Given the description of an element on the screen output the (x, y) to click on. 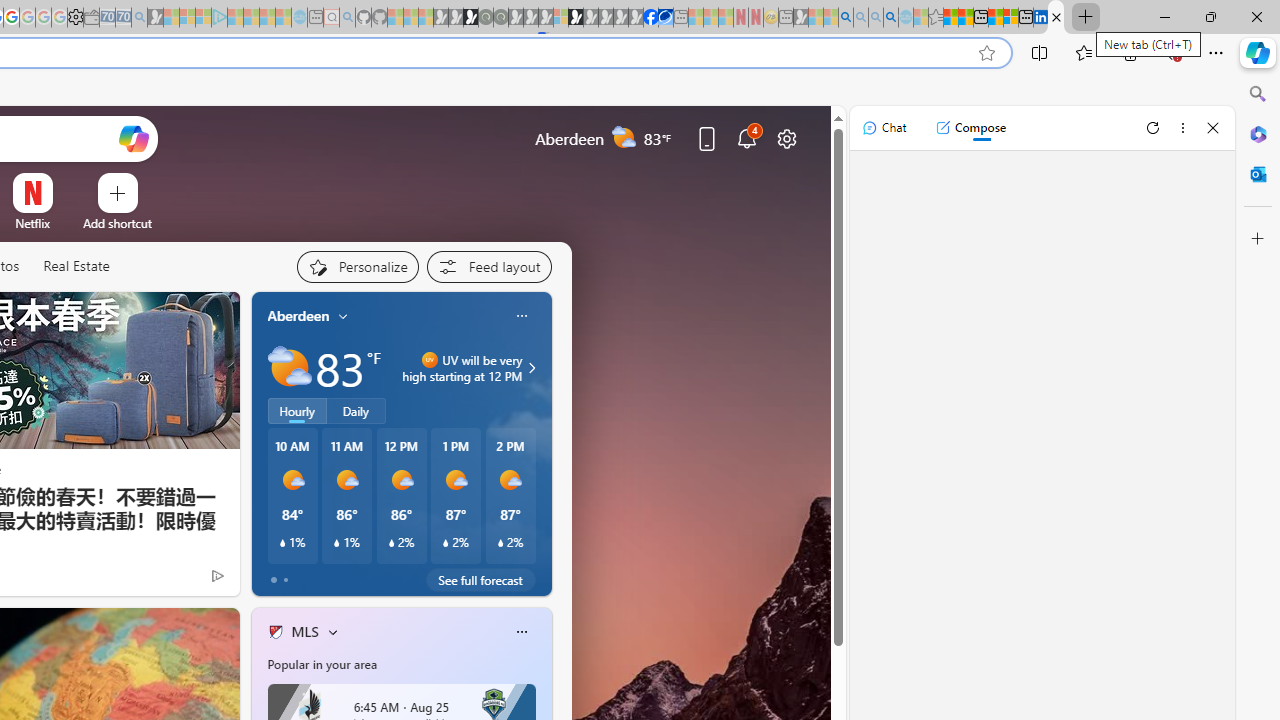
Google Chrome Internet Browser Download - Search Images (891, 17)
Class: weather-current-precipitation-glyph (500, 543)
Daily (356, 411)
Feed settings (488, 266)
Real Estate (76, 265)
